Given the description of an element on the screen output the (x, y) to click on. 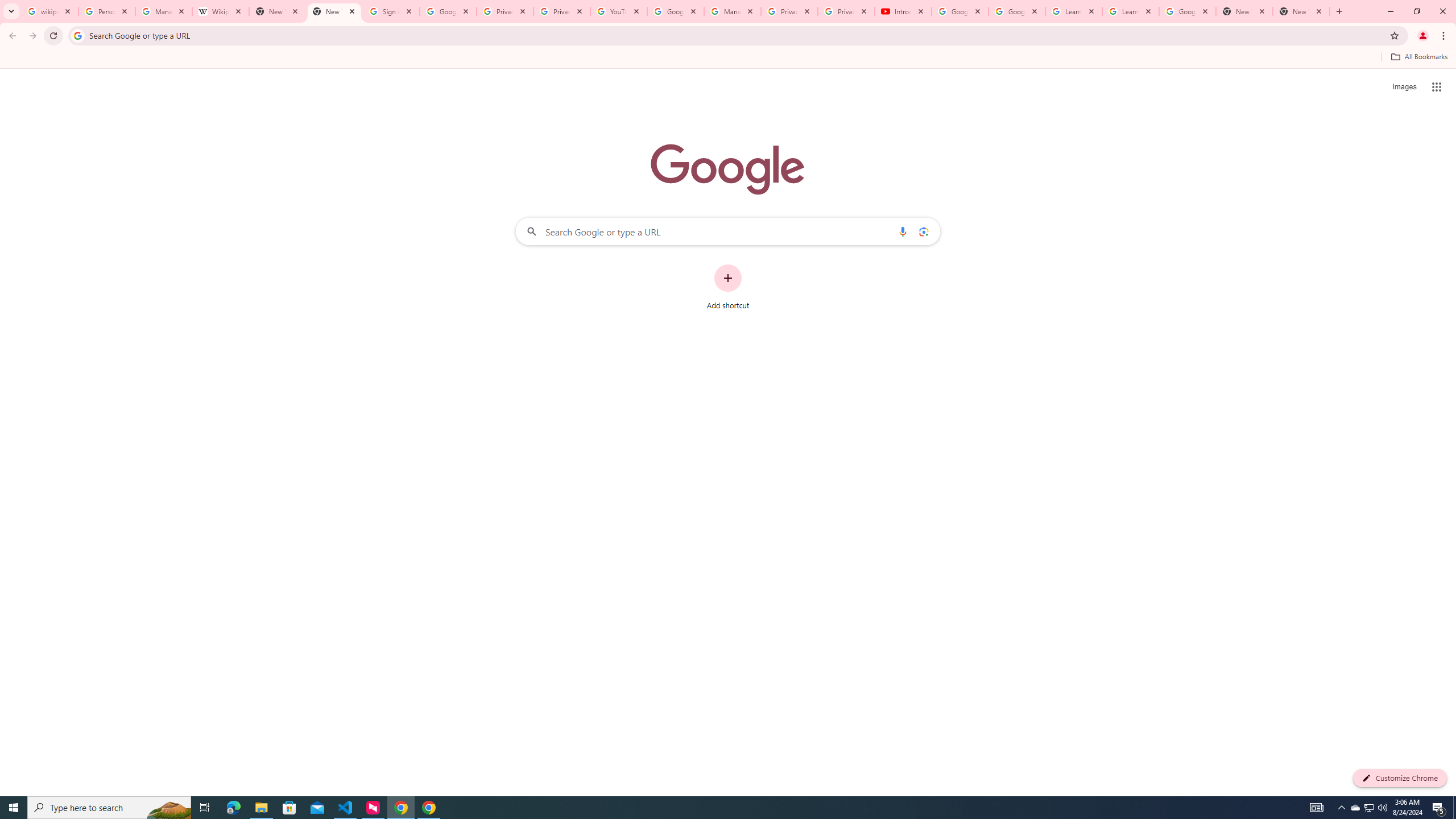
Bookmarks (728, 58)
Search Google or type a URL (727, 230)
Introduction | Google Privacy Policy - YouTube (902, 11)
Search by image (922, 230)
New Tab (1244, 11)
Search by voice (902, 230)
Wikipedia:Edit requests - Wikipedia (220, 11)
Manage your Location History - Google Search Help (163, 11)
Google Account Help (959, 11)
